Given the description of an element on the screen output the (x, y) to click on. 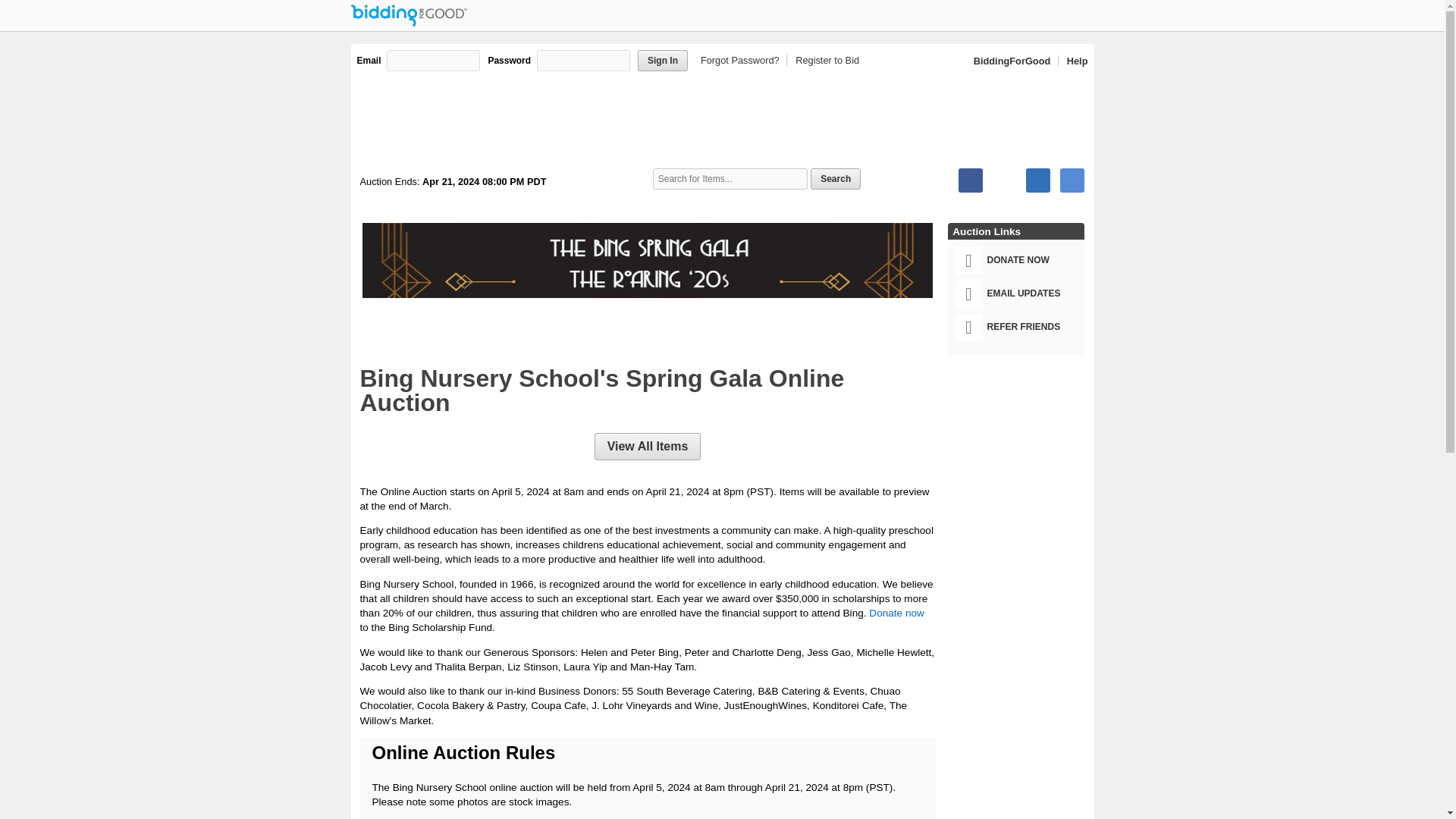
REFER FRIENDS (1019, 327)
DONATE NOW (1019, 260)
EMAIL UPDATES (1019, 293)
Help (1074, 60)
Register to Bid (824, 60)
Email (1071, 180)
Donate now (896, 613)
Sign In (662, 60)
LinkedIn (1037, 180)
Sign In (662, 60)
View All Items (647, 446)
Twitter (1004, 180)
Forgot Password? (741, 60)
Search (835, 178)
